Given the description of an element on the screen output the (x, y) to click on. 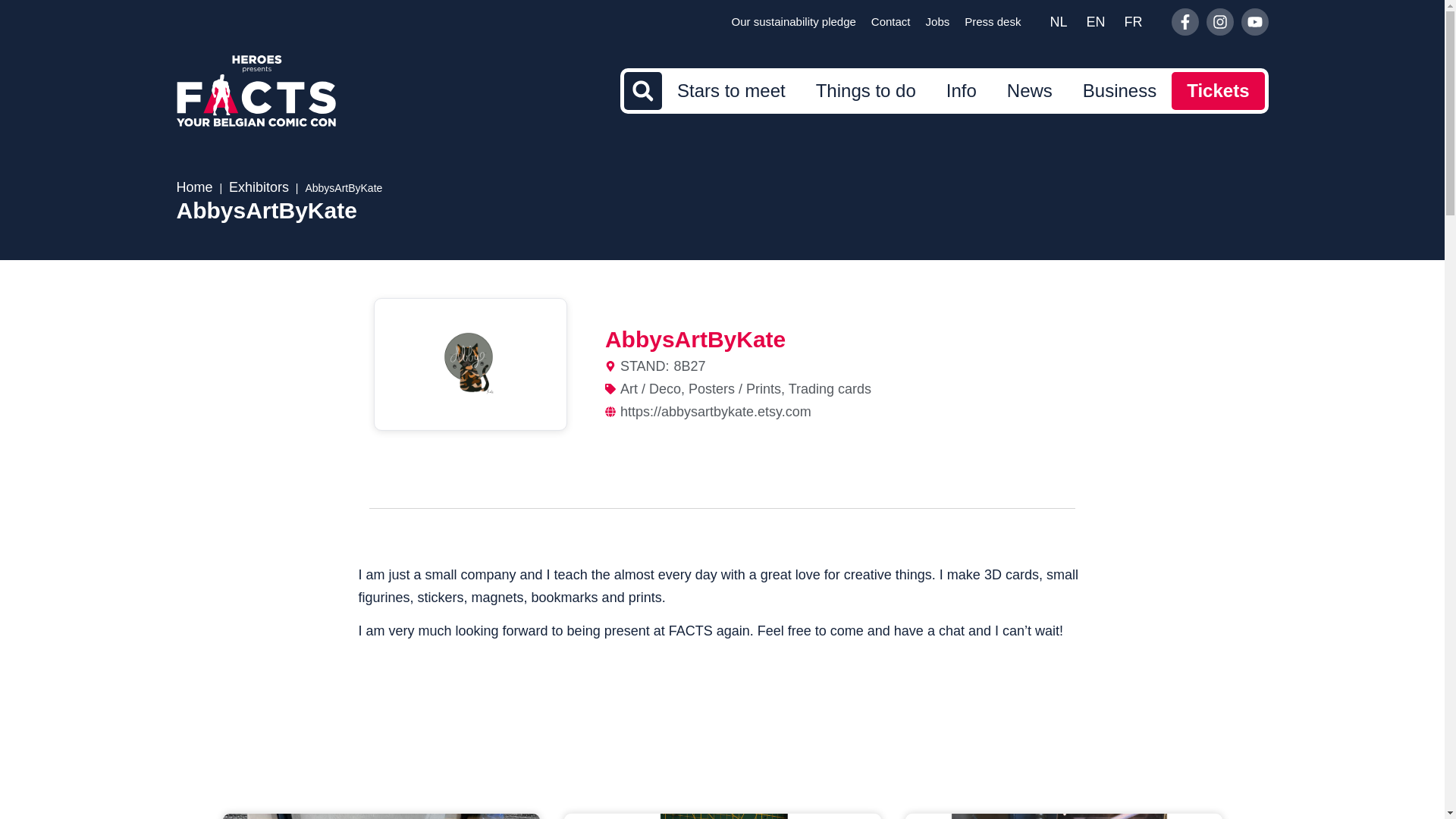
Our sustainability pledge (794, 21)
Press desk (991, 21)
Things to do (865, 90)
Contact (890, 21)
EN (1095, 21)
NL (1058, 21)
FR (1133, 21)
Stars to meet (731, 90)
